Given the description of an element on the screen output the (x, y) to click on. 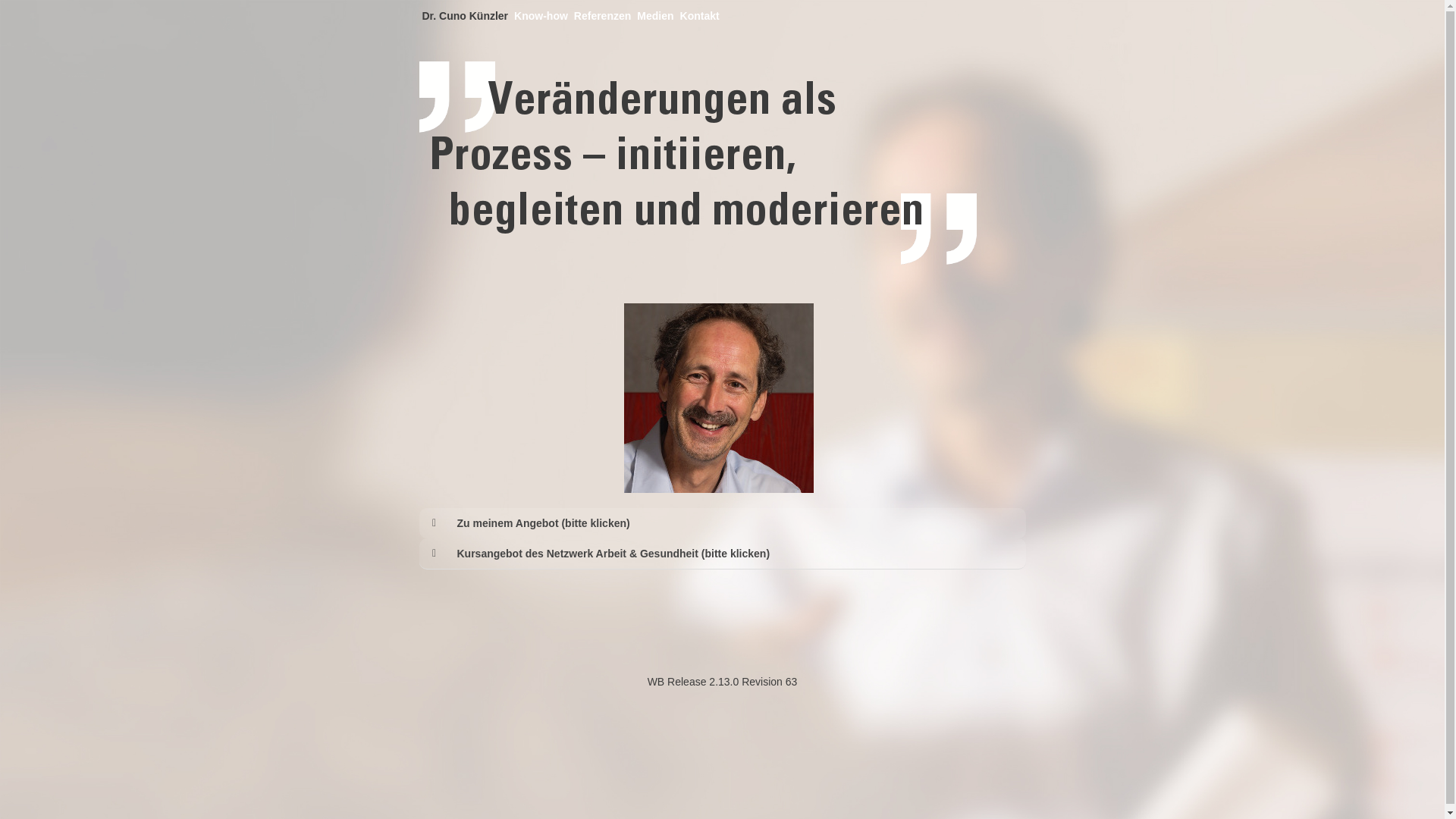
Referenzen Element type: text (602, 15)
Zu meinem Angebot (bitte klicken) Element type: text (736, 523)
Kontakt Element type: text (699, 15)
Know-how Element type: text (541, 15)
Medien Element type: text (654, 15)
Kursangebot des Netzwerk Arbeit & Gesundheit (bitte klicken) Element type: text (736, 553)
